Given the description of an element on the screen output the (x, y) to click on. 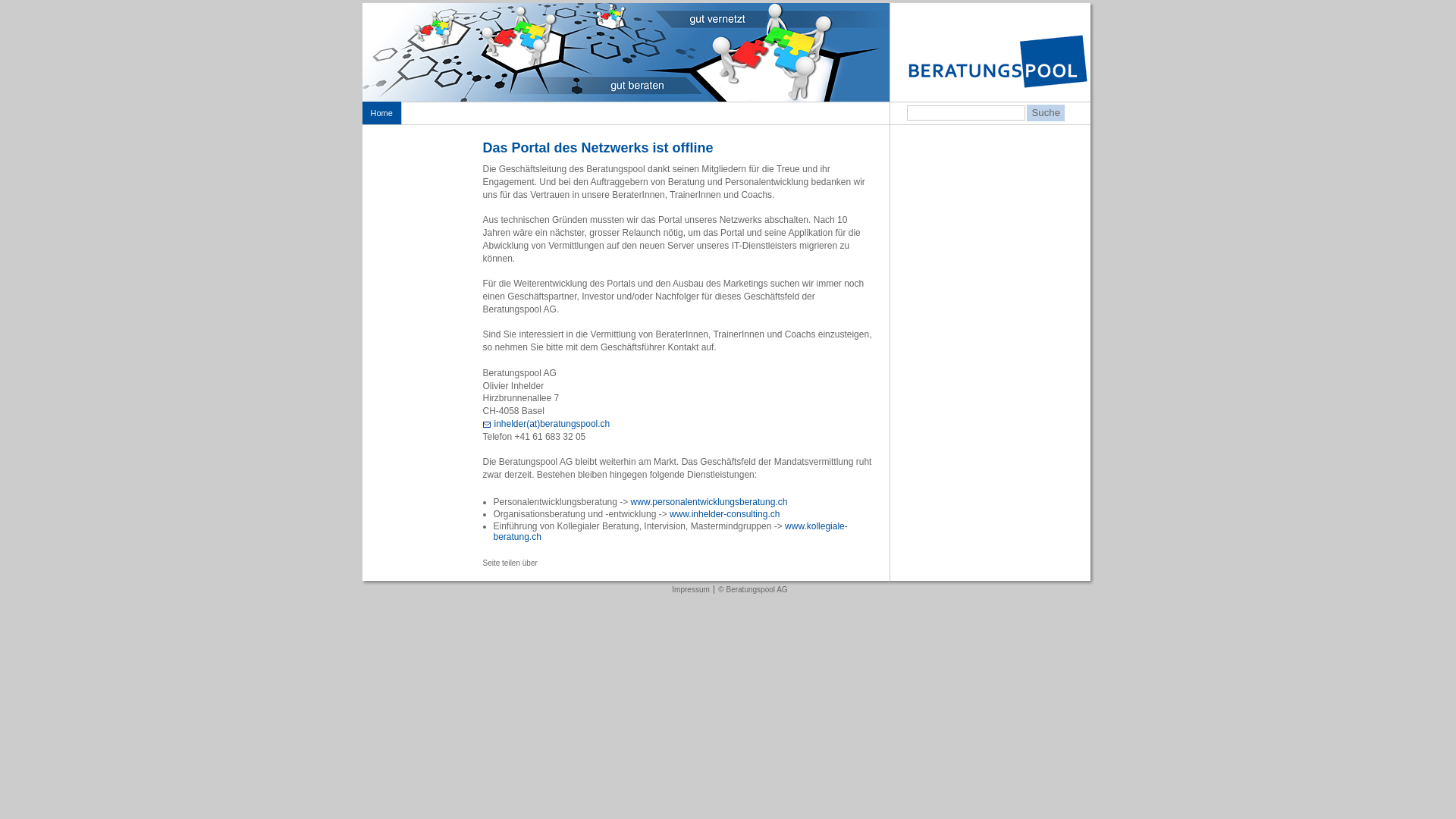
Home Element type: text (381, 112)
Impressum Element type: text (690, 589)
www.inhelder-consulting.ch Element type: text (724, 513)
inhelder(at)beratungspool.ch Element type: text (545, 423)
Suche Element type: text (1045, 112)
www.personalentwicklungsberatung.ch Element type: text (708, 501)
www.kollegiale-beratung.ch Element type: text (669, 531)
